Given the description of an element on the screen output the (x, y) to click on. 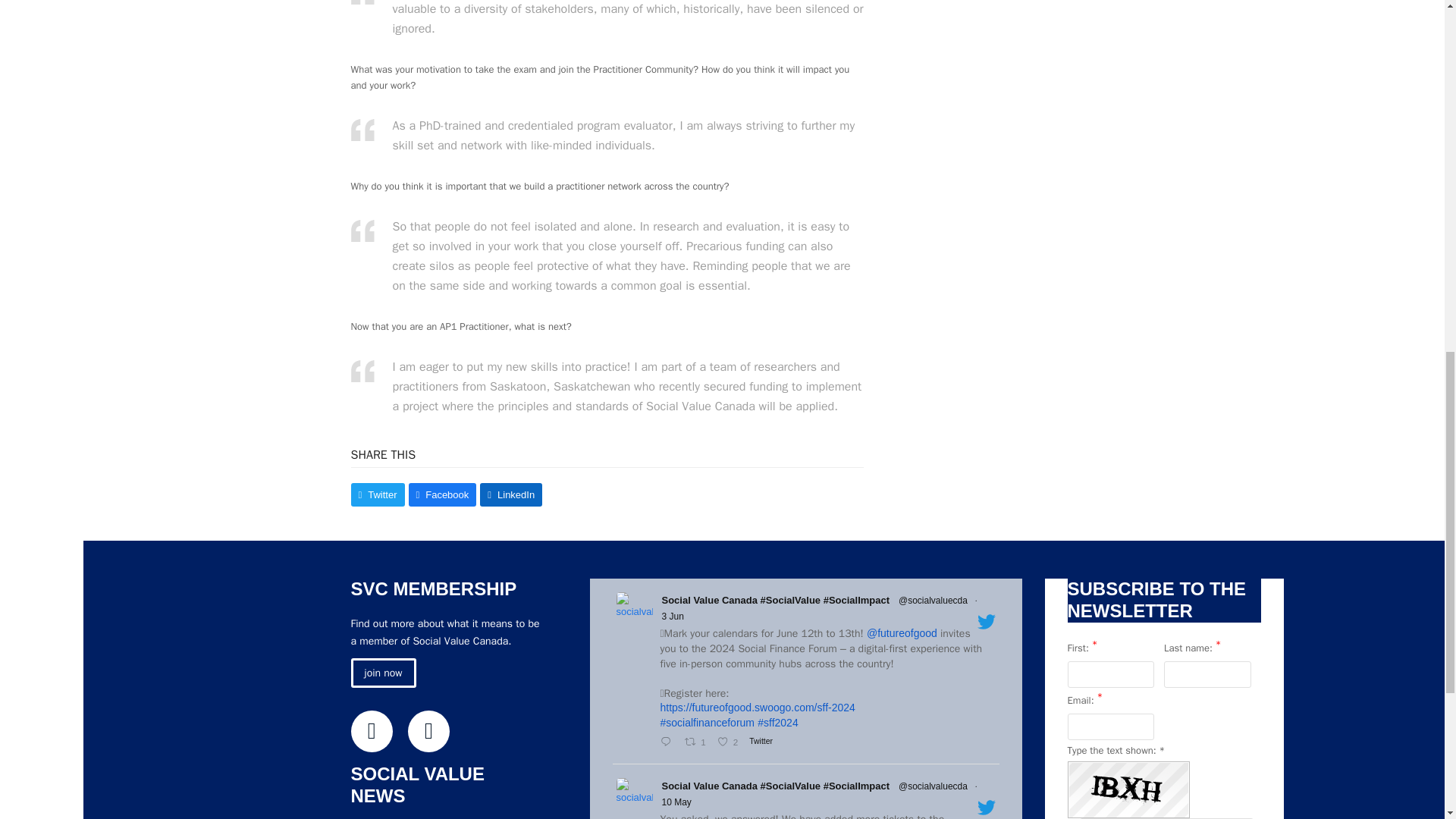
Twitter (370, 731)
LinkedIn (428, 731)
